Given the description of an element on the screen output the (x, y) to click on. 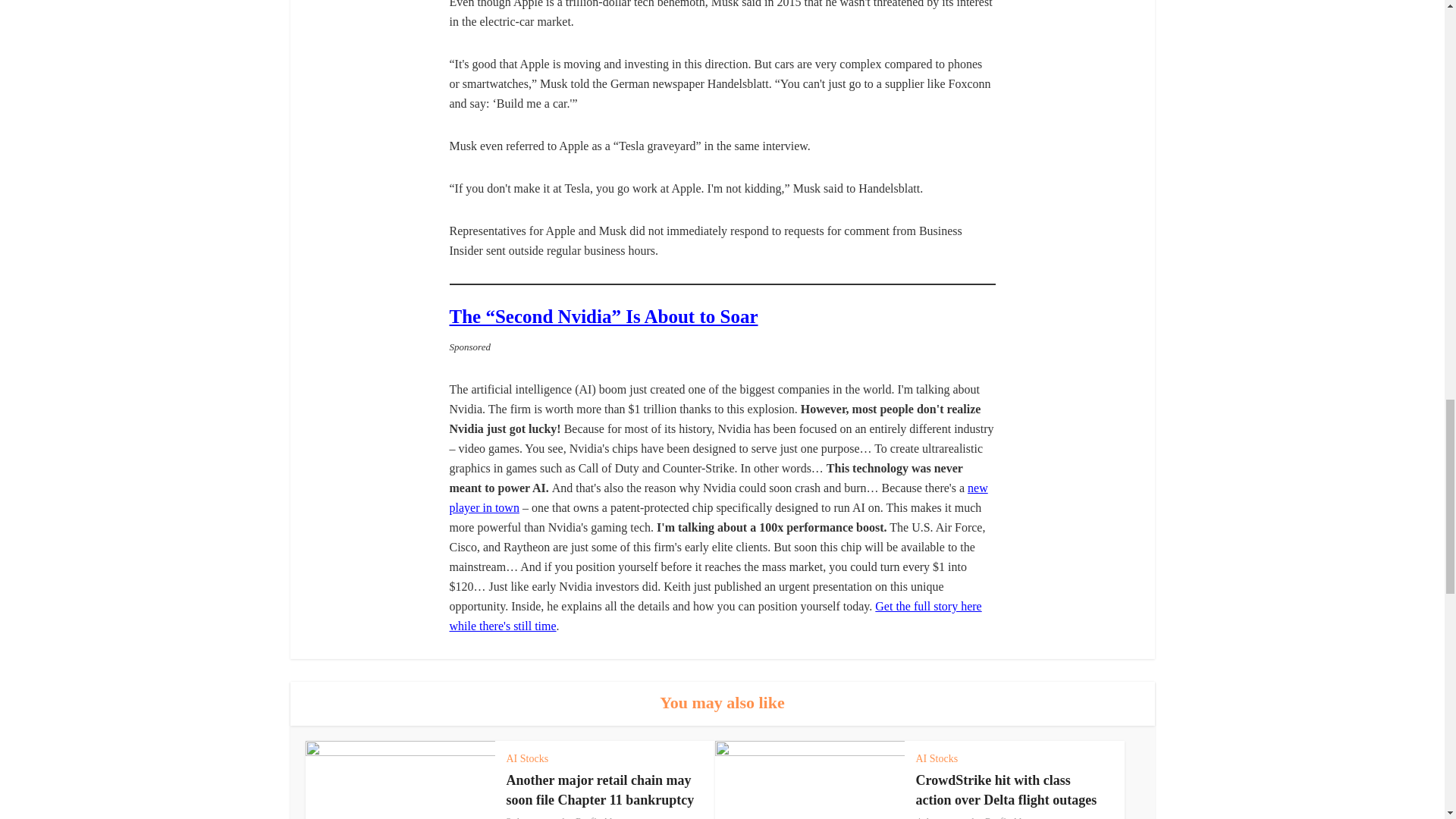
Profit Alerts (1010, 817)
Profit Alerts (601, 817)
AI Stocks (527, 758)
CrowdStrike hit with class action over Delta flight outages (1006, 790)
AI Stocks (936, 758)
CrowdStrike hit with class action over Delta flight outages (1006, 790)
new player in town (717, 497)
Get the full story here while there's still time (714, 615)
